Given the description of an element on the screen output the (x, y) to click on. 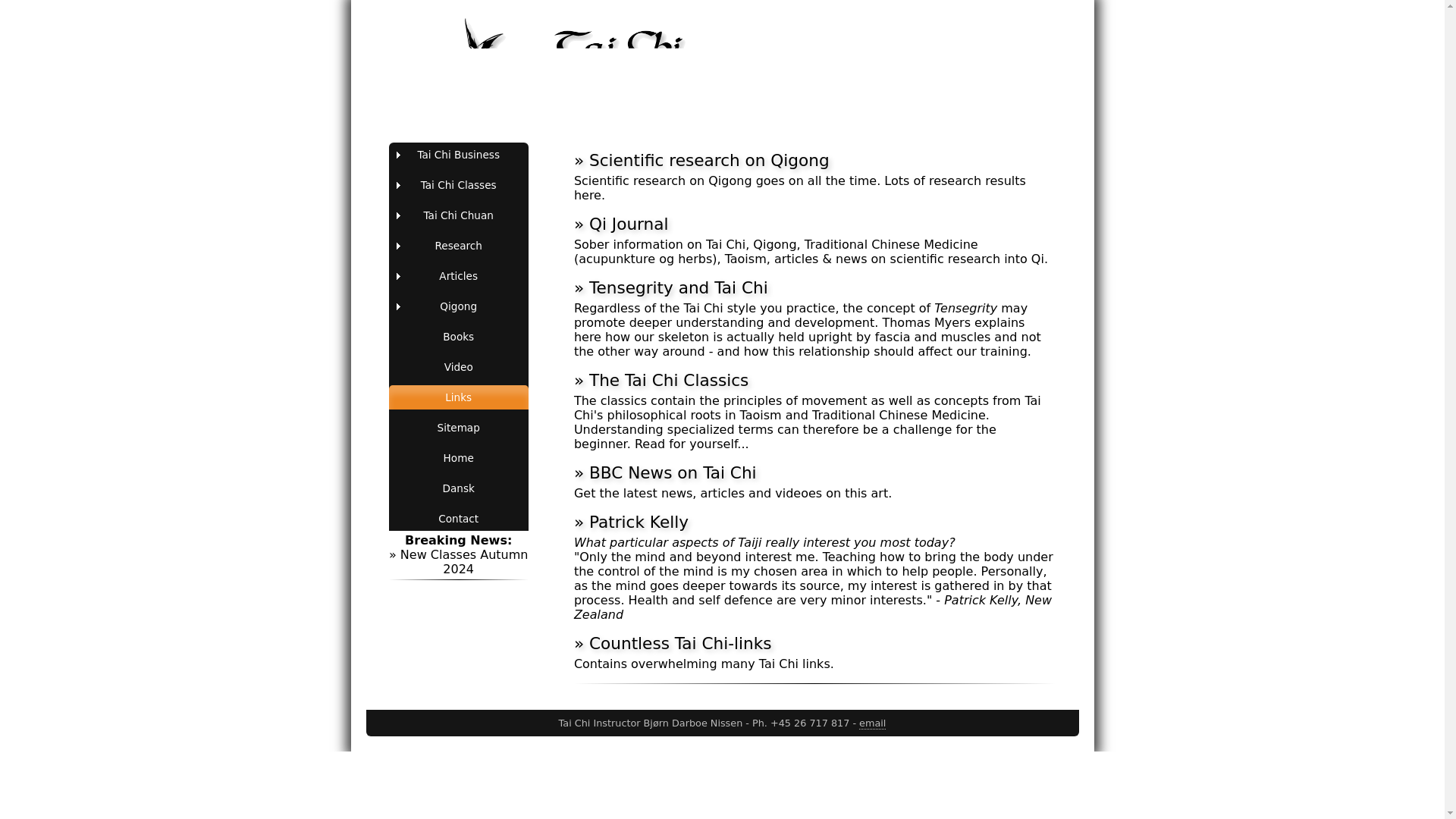
Tai Chi Business (457, 154)
Video (457, 366)
Articles (457, 275)
Send email (872, 723)
Books (457, 336)
Qigong (457, 306)
Tai Chi Chuan (457, 215)
Research (457, 245)
Tai Chi Classes (457, 184)
